Given the description of an element on the screen output the (x, y) to click on. 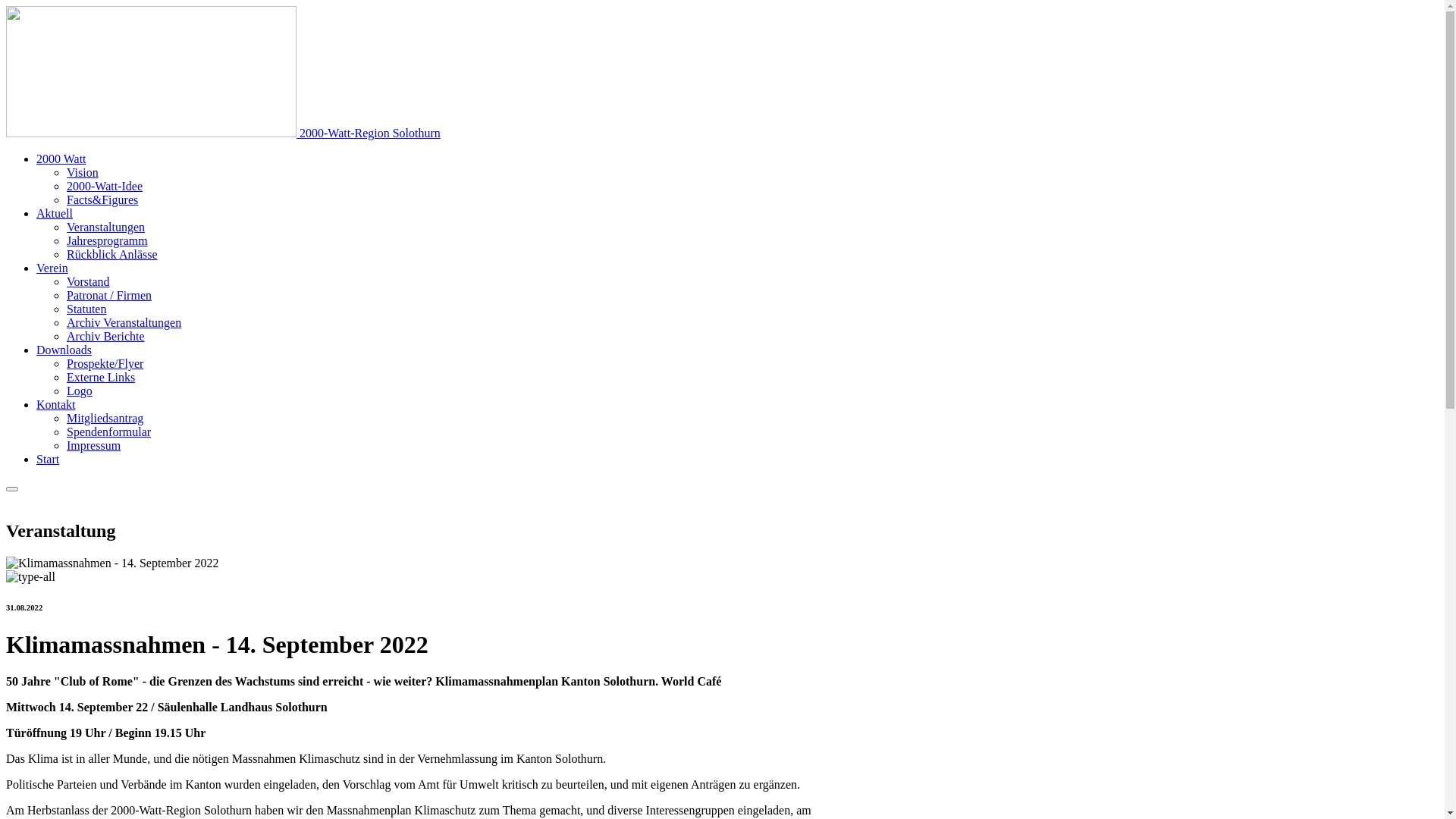
Vorstand Element type: text (87, 281)
Aktuell Element type: text (54, 213)
Veranstaltungen Element type: text (105, 226)
Statuten Element type: text (86, 308)
Externe Links Element type: text (100, 376)
Spendenformular Element type: text (108, 431)
Downloads Element type: text (63, 349)
Jahresprogramm Element type: text (106, 240)
Patronat / Firmen Element type: text (108, 294)
Logo Element type: text (79, 390)
Mitgliedsantrag Element type: text (104, 417)
Verein Element type: text (52, 267)
Facts&Figures Element type: text (102, 199)
Vision Element type: text (82, 172)
Start Element type: text (47, 458)
Kontakt Element type: text (55, 404)
Prospekte/Flyer Element type: text (104, 363)
2000-Watt-Region Solothurn Element type: text (223, 132)
2000 Watt Element type: text (61, 158)
Archiv Veranstaltungen Element type: text (123, 322)
Impressum Element type: text (93, 445)
2000-Watt-Idee Element type: text (104, 185)
Archiv Berichte Element type: text (105, 335)
